Given the description of an element on the screen output the (x, y) to click on. 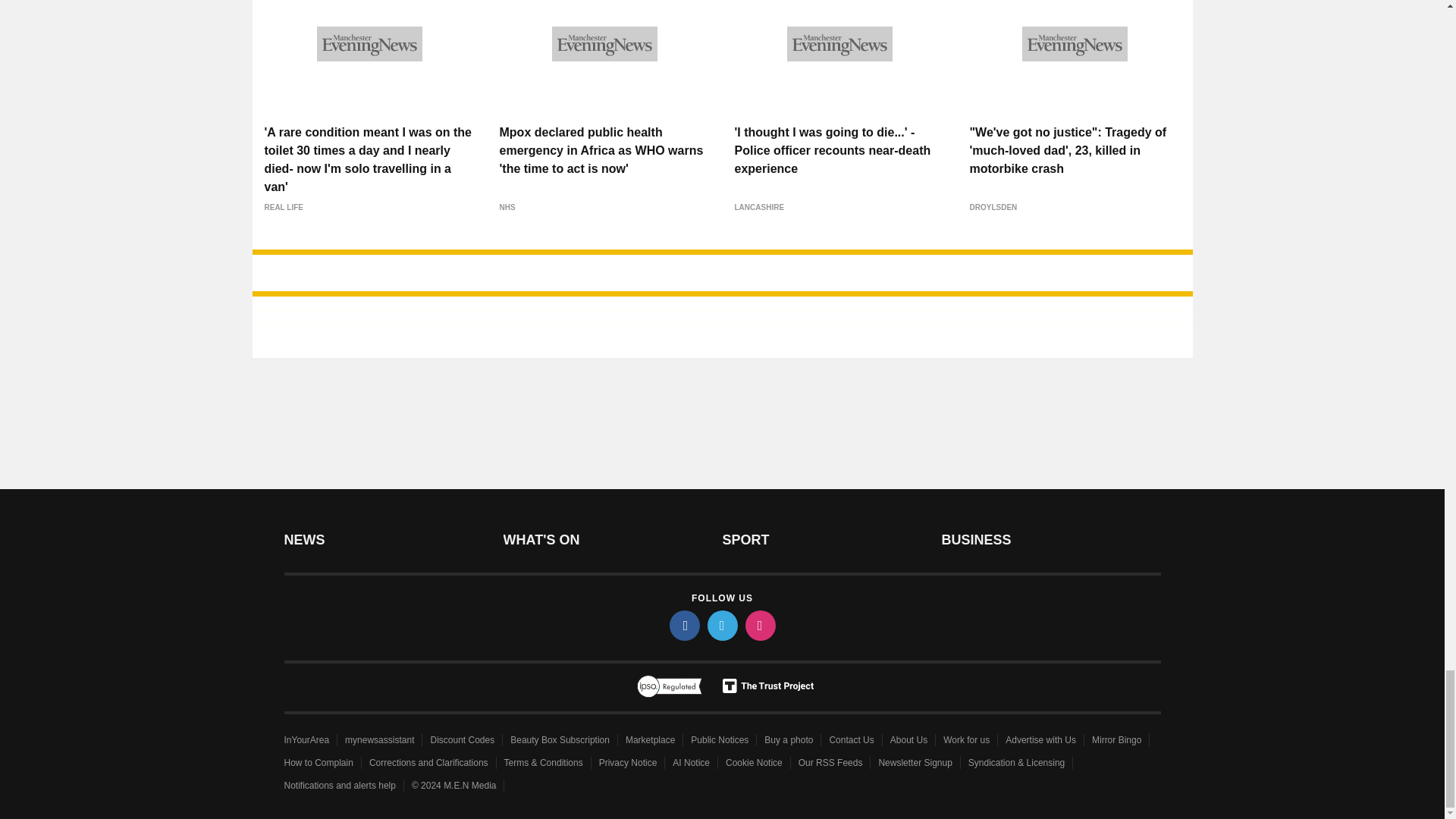
twitter (721, 625)
facebook (683, 625)
instagram (759, 625)
